Given the description of an element on the screen output the (x, y) to click on. 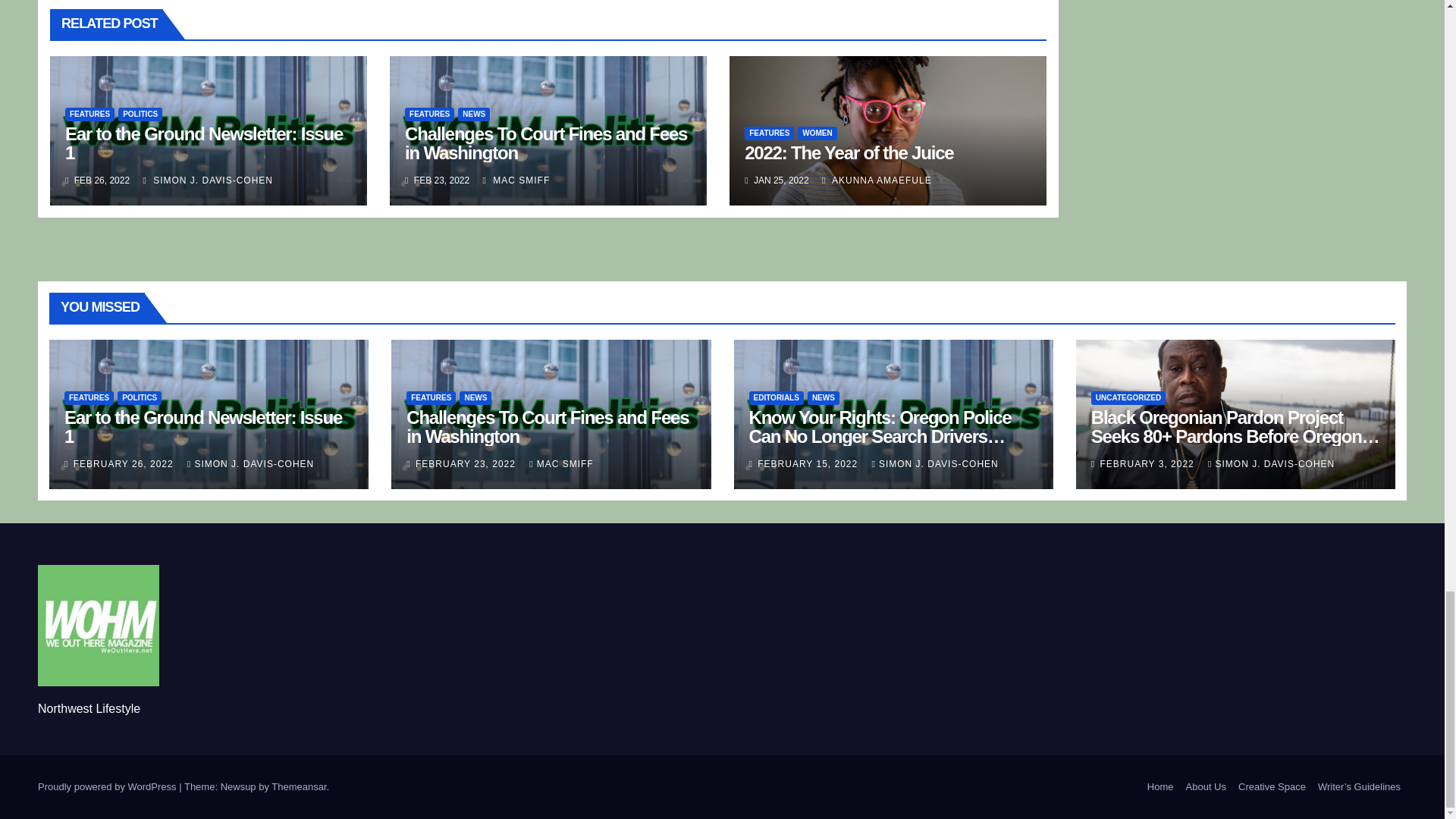
Permalink to: 2022: The Year of the Juice (848, 152)
Permalink to: Ear to the Ground Newsletter: Issue 1 (203, 142)
